Given the description of an element on the screen output the (x, y) to click on. 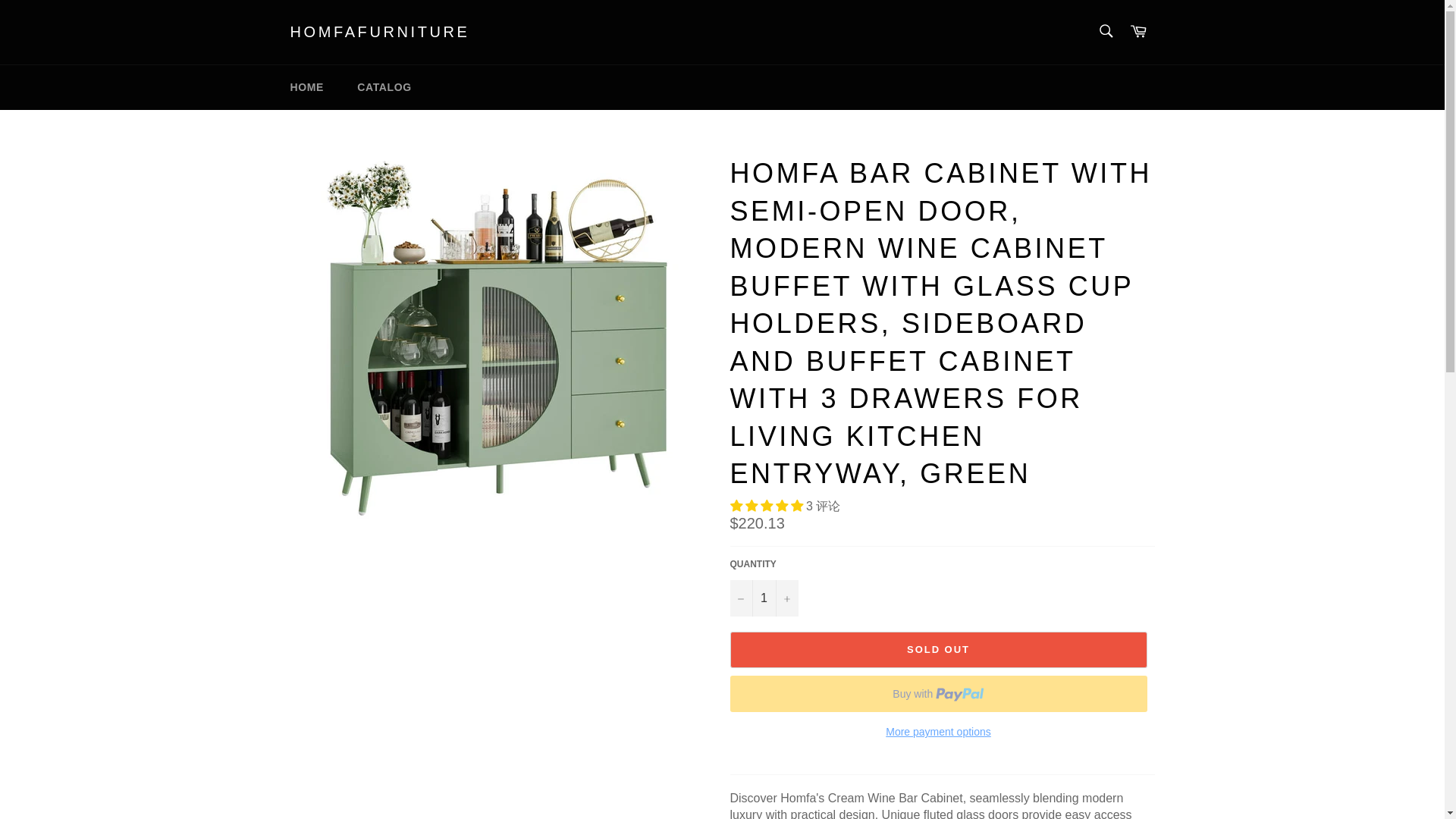
SOLD OUT (938, 649)
HOME (306, 87)
Search (1104, 30)
CATALOG (384, 87)
More payment options (938, 731)
1 (763, 597)
HOMFAFURNITURE (378, 32)
Cart (1138, 32)
